Given the description of an element on the screen output the (x, y) to click on. 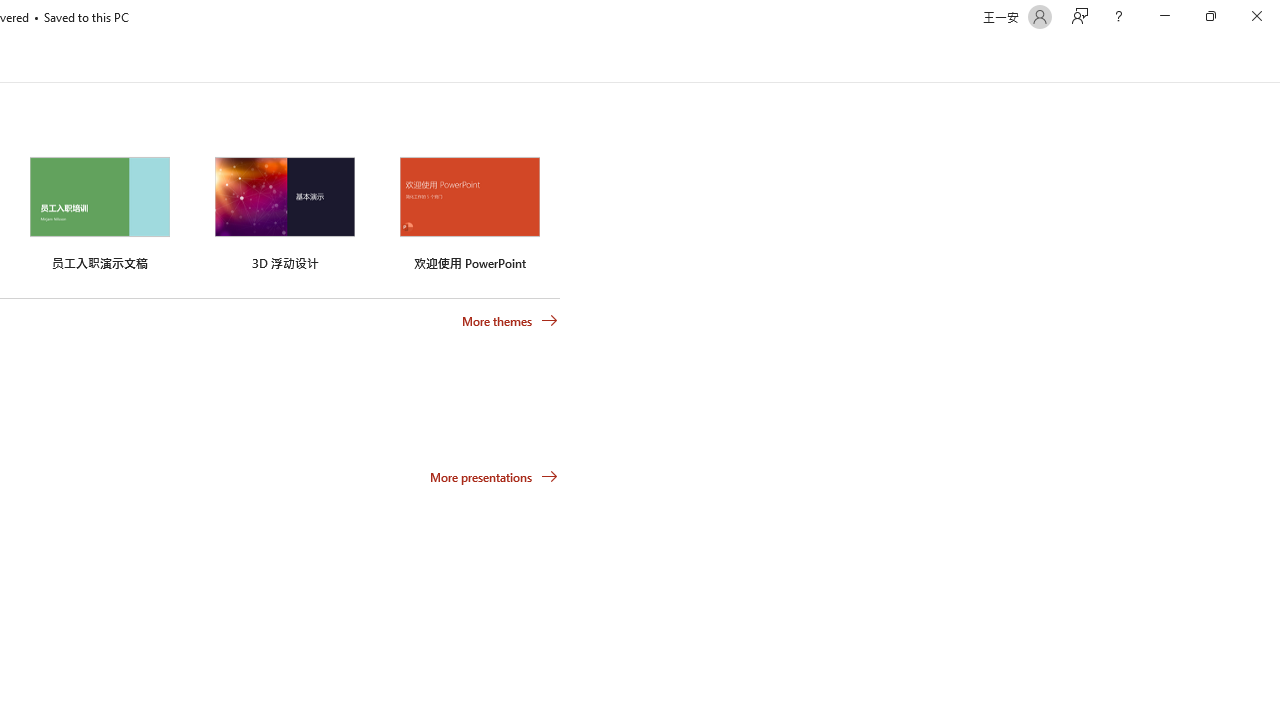
More themes (509, 321)
More presentations (493, 476)
Class: NetUIScrollBar (1271, 59)
